Given the description of an element on the screen output the (x, y) to click on. 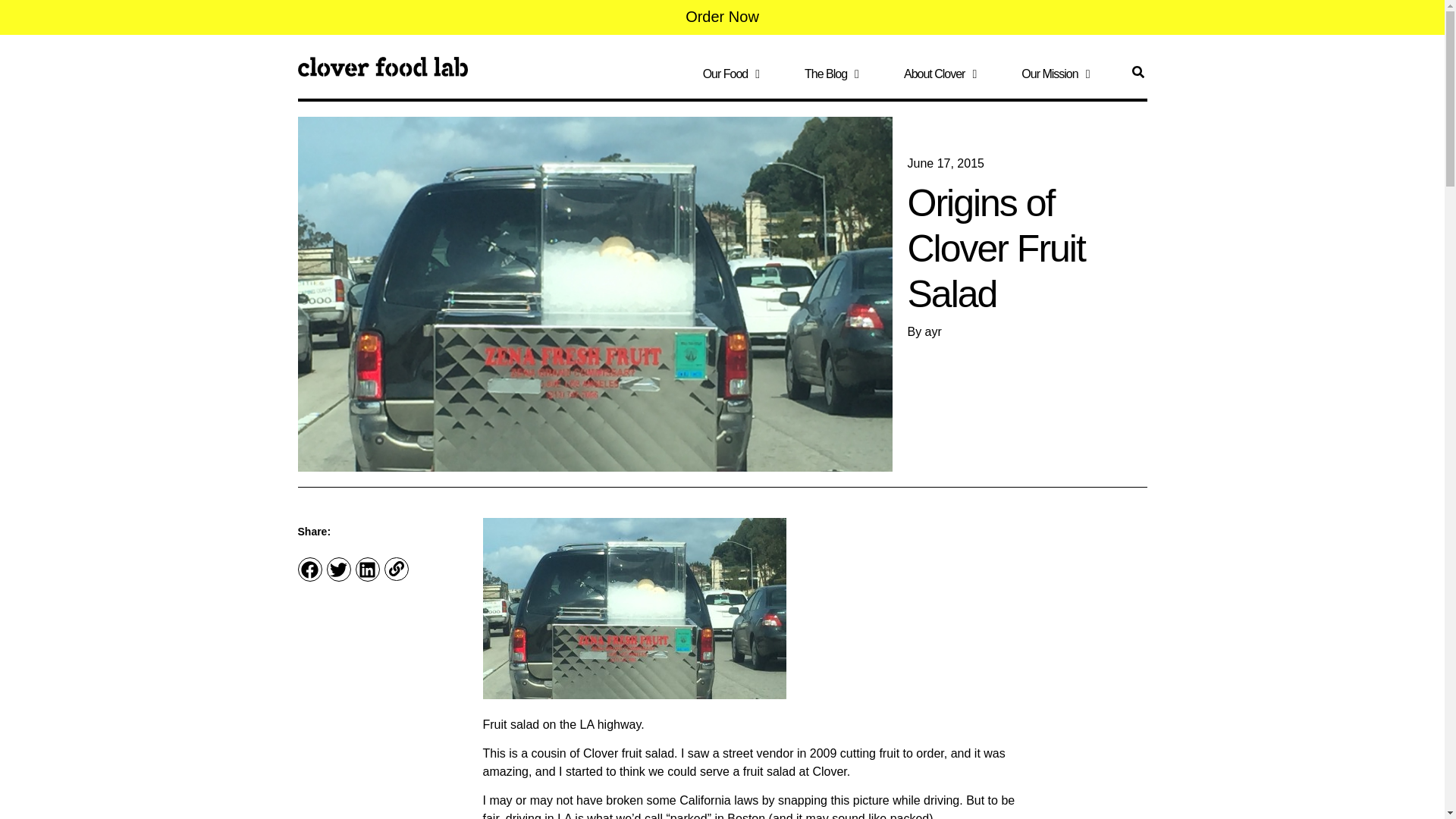
The Blog (832, 77)
About Clover (939, 77)
Our Mission (1055, 77)
Order Now (721, 16)
Our Food (730, 77)
